Given the description of an element on the screen output the (x, y) to click on. 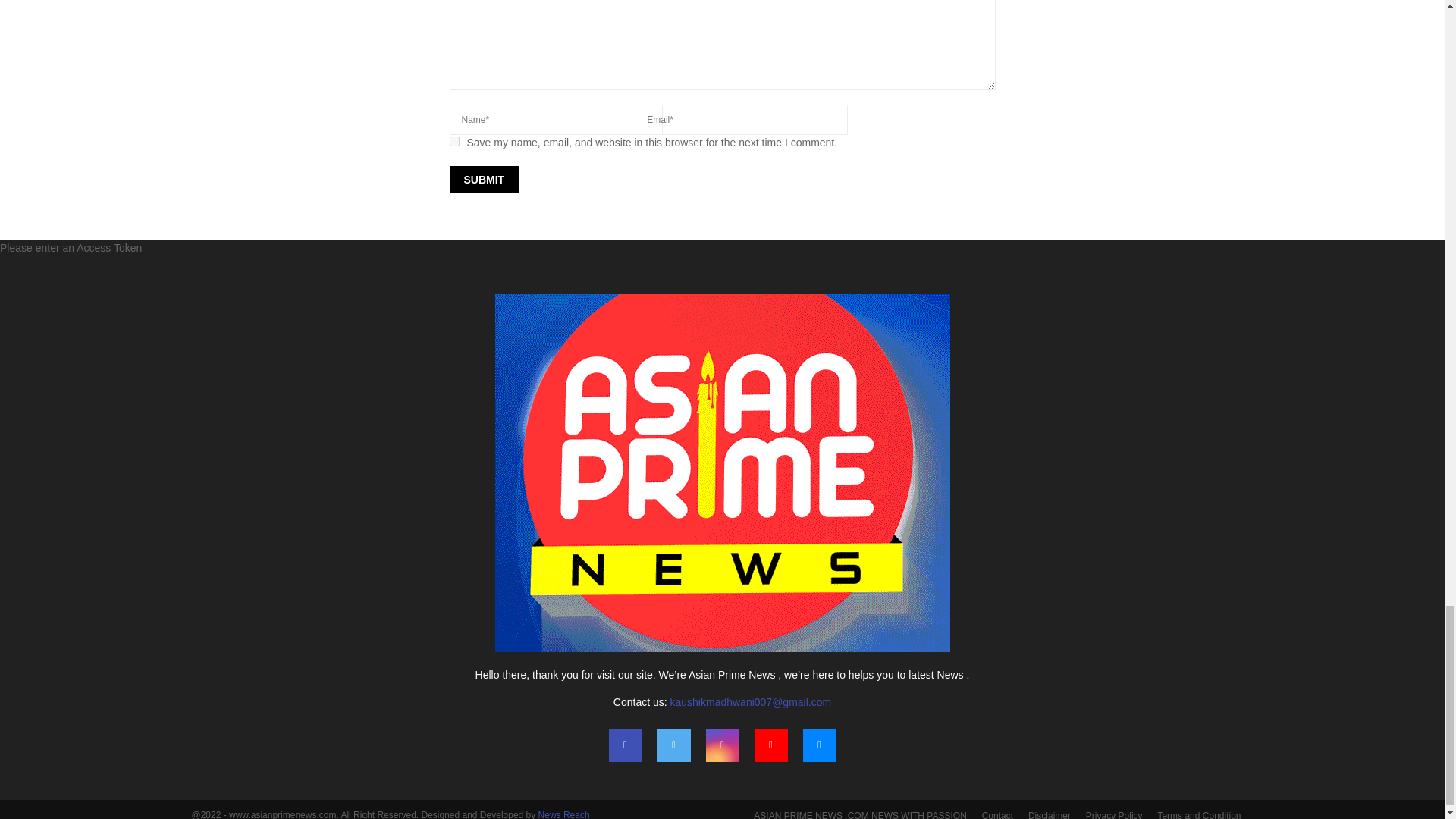
Submit (483, 179)
yes (453, 141)
